Given the description of an element on the screen output the (x, y) to click on. 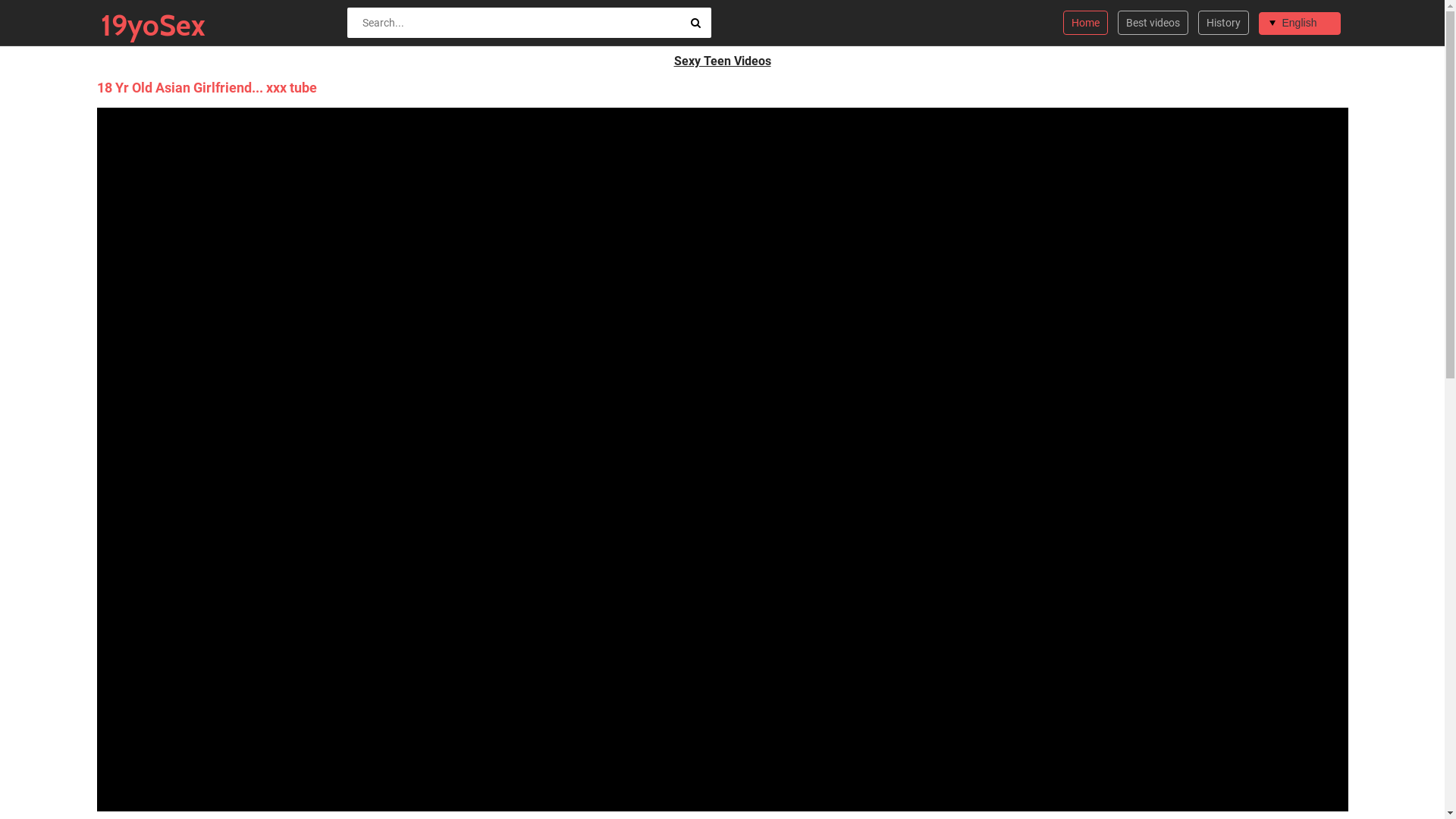
History Element type: text (1223, 22)
Sexy Teen Videos Element type: text (721, 60)
19yoSex Element type: text (138, 25)
Best videos Element type: text (1152, 22)
Home Element type: text (1085, 22)
